Given the description of an element on the screen output the (x, y) to click on. 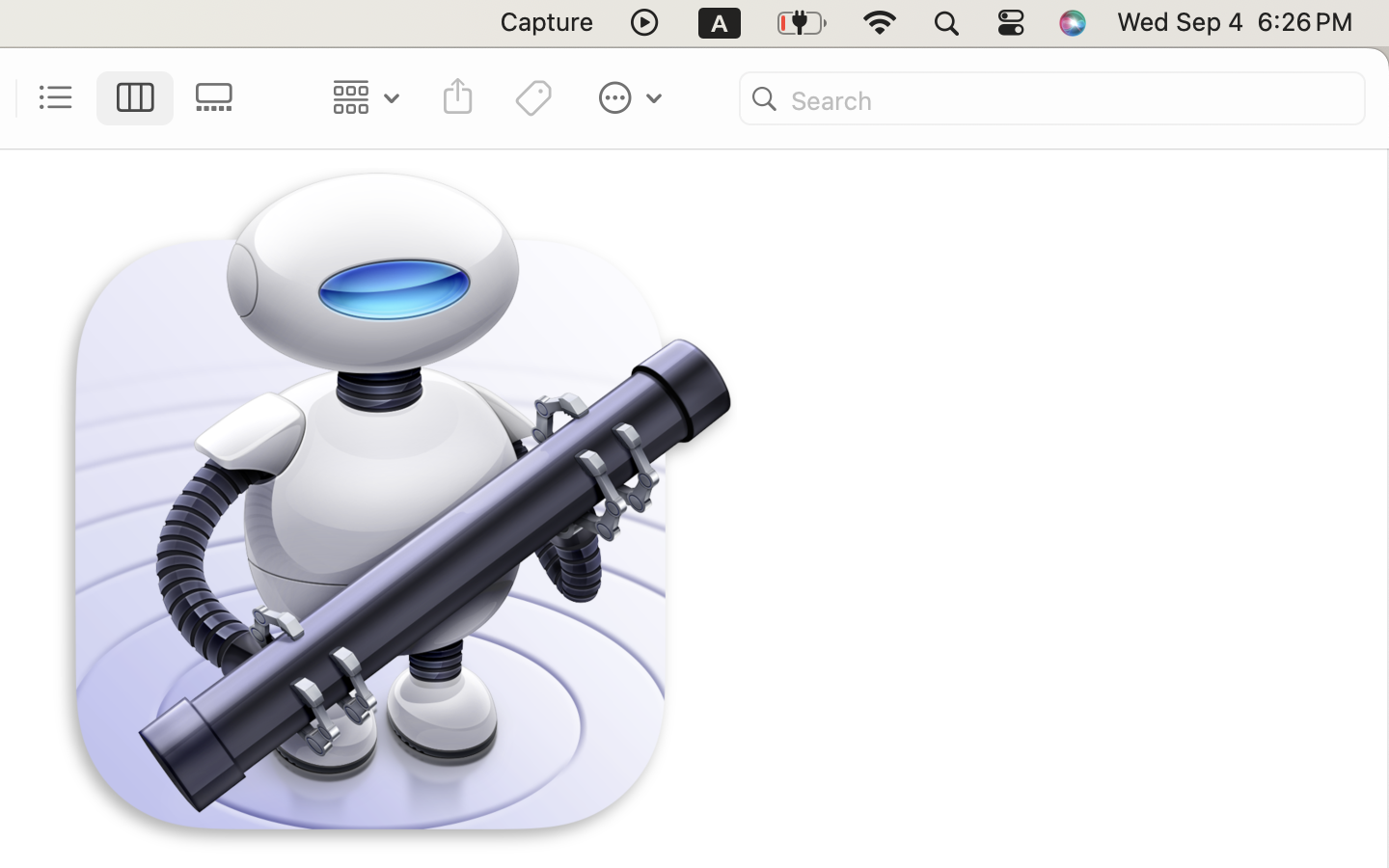
1 Element type: AXRadioButton (135, 97)
0 Element type: AXRadioButton (219, 97)
